Given the description of an element on the screen output the (x, y) to click on. 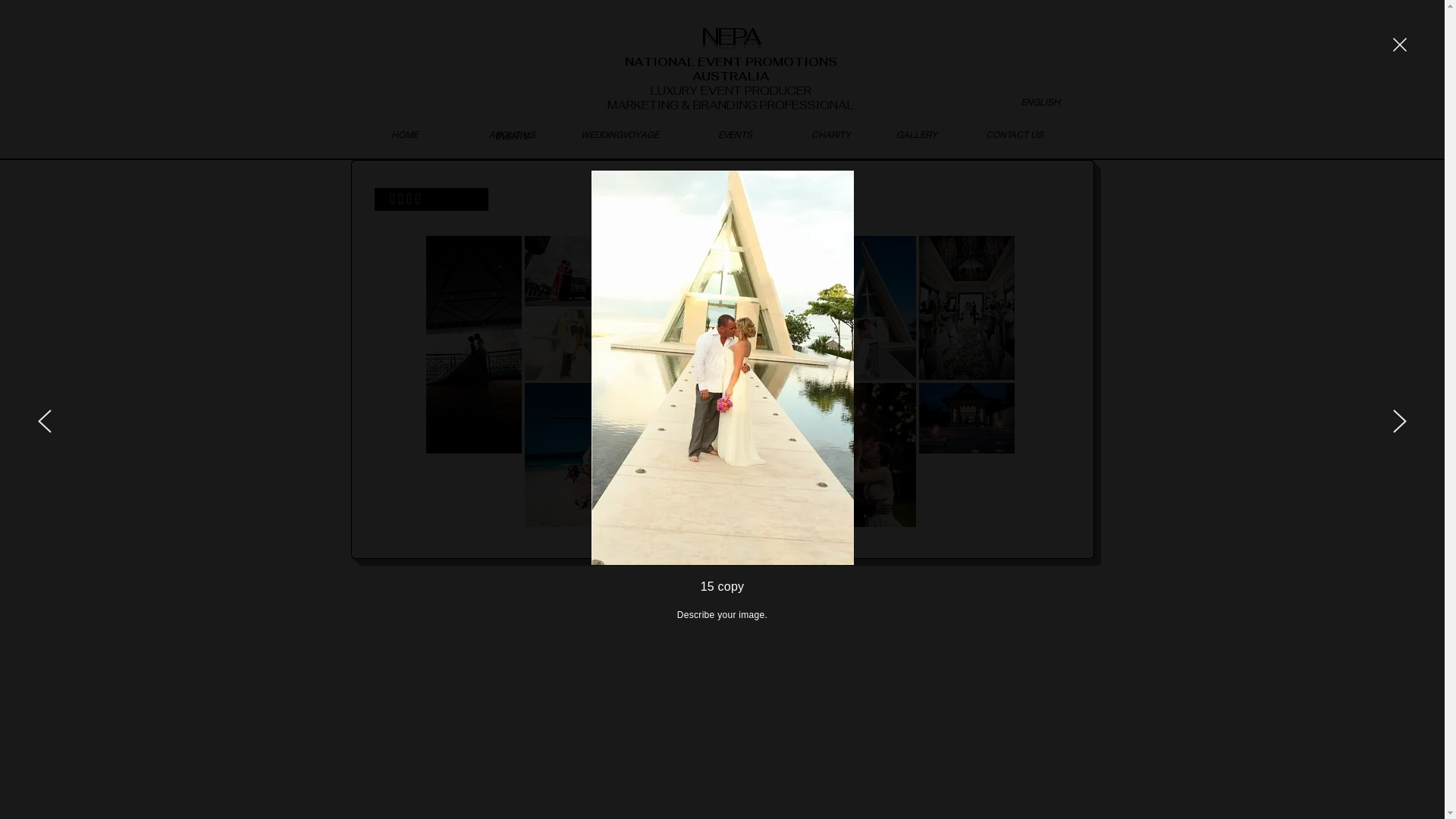
CONTACT US Element type: text (1013, 134)
ENGLISH Element type: text (1039, 102)
EVENTS Element type: text (734, 134)
NEPA Element type: text (730, 34)
CHARITY Element type: text (830, 134)
ABOUT US Element type: text (511, 134)
HOME Element type: text (404, 134)
WEDDINGVOYAGE Element type: text (619, 134)
EVENTS Element type: text (511, 136)
GALLERY Element type: text (917, 134)
